Given the description of an element on the screen output the (x, y) to click on. 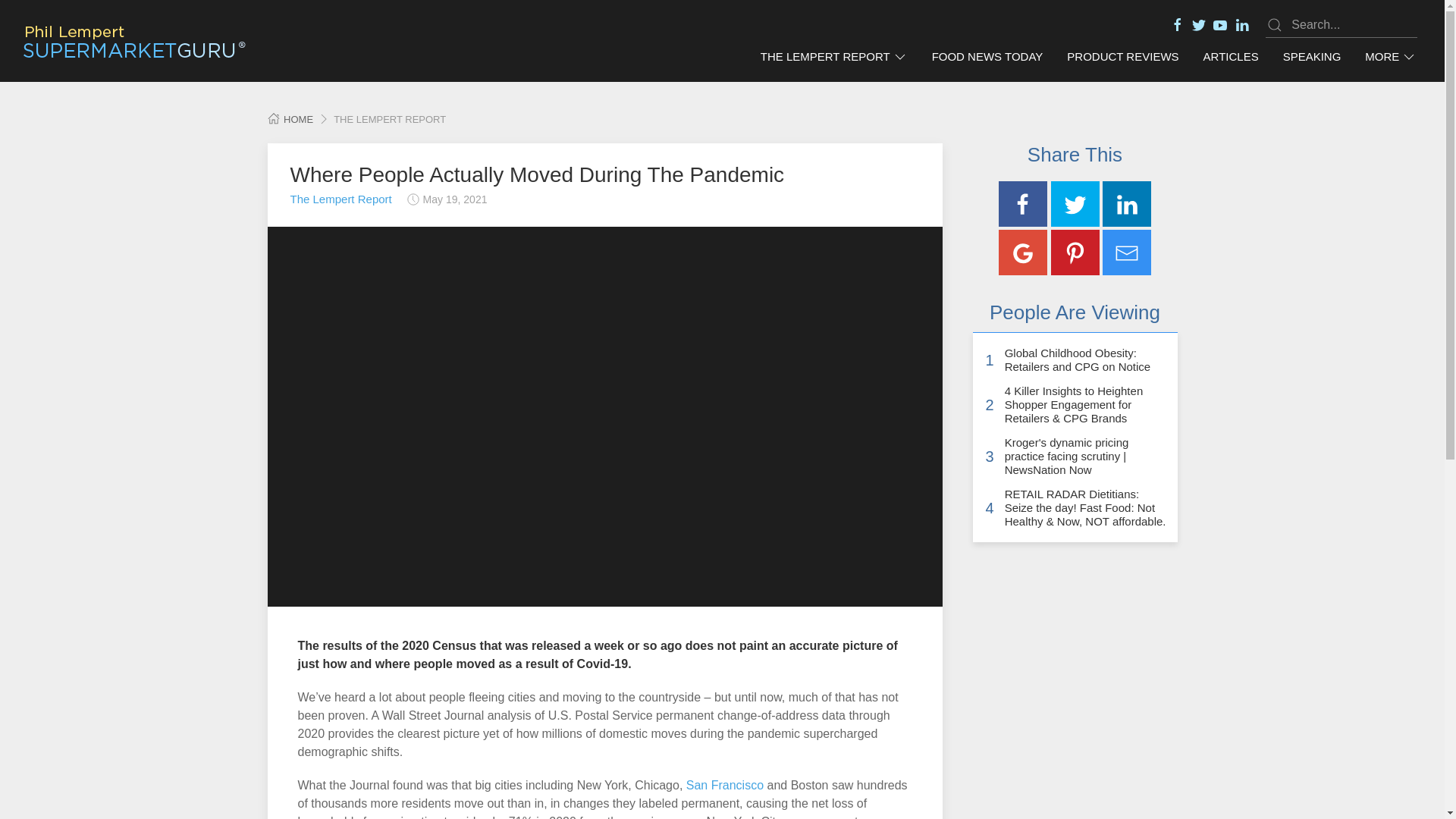
MORE (1390, 56)
ARTICLES (1231, 56)
SPEAKING (1312, 56)
THE LEMPERT REPORT (834, 56)
FOOD NEWS TODAY (987, 56)
PRODUCT REVIEWS (1122, 56)
HOME (289, 119)
